Given the description of an element on the screen output the (x, y) to click on. 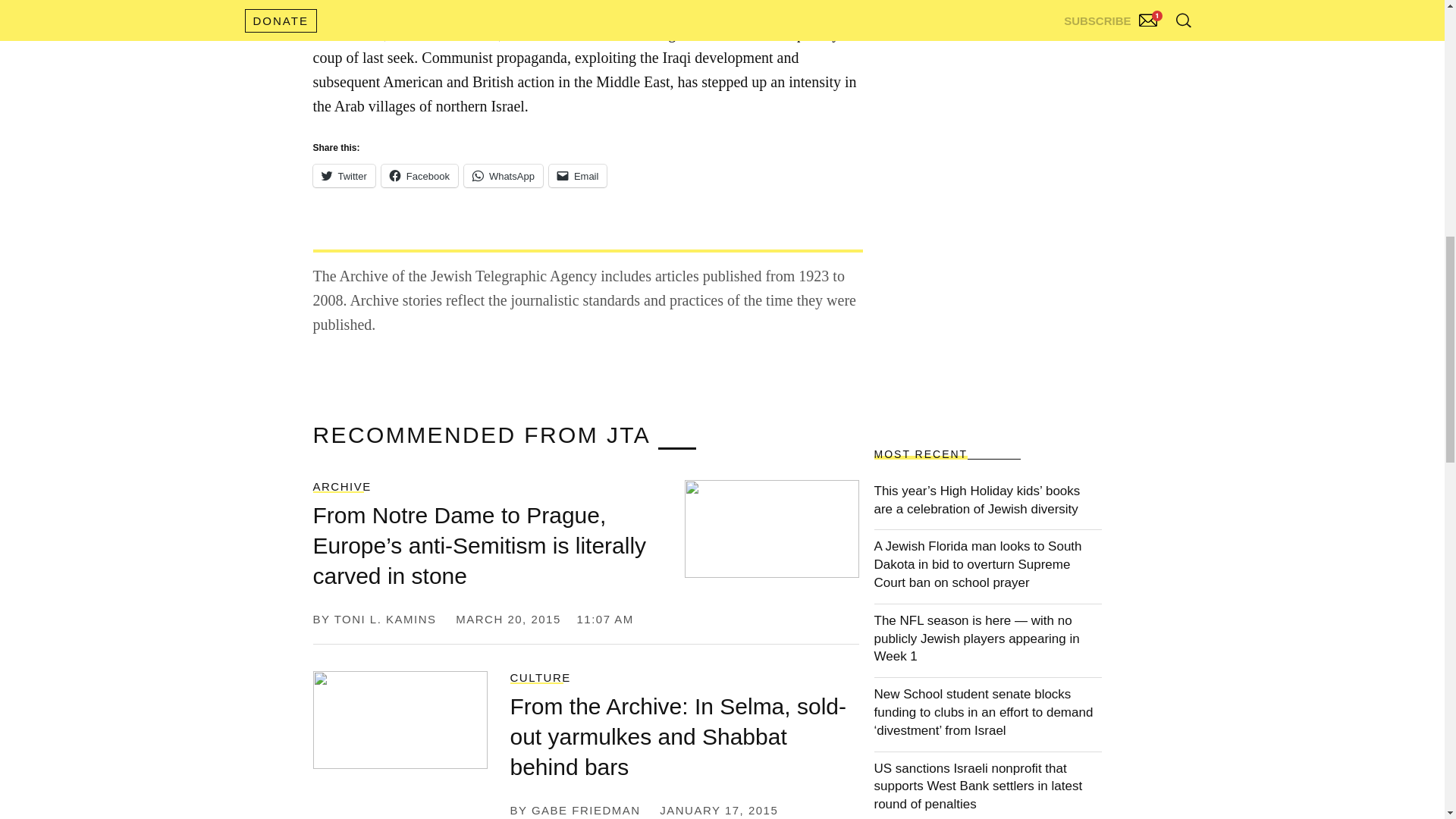
Click to share on Twitter (343, 175)
Click to share on Facebook (419, 175)
Click to share on WhatsApp (503, 175)
Click to email a link to a friend (577, 175)
